Given the description of an element on the screen output the (x, y) to click on. 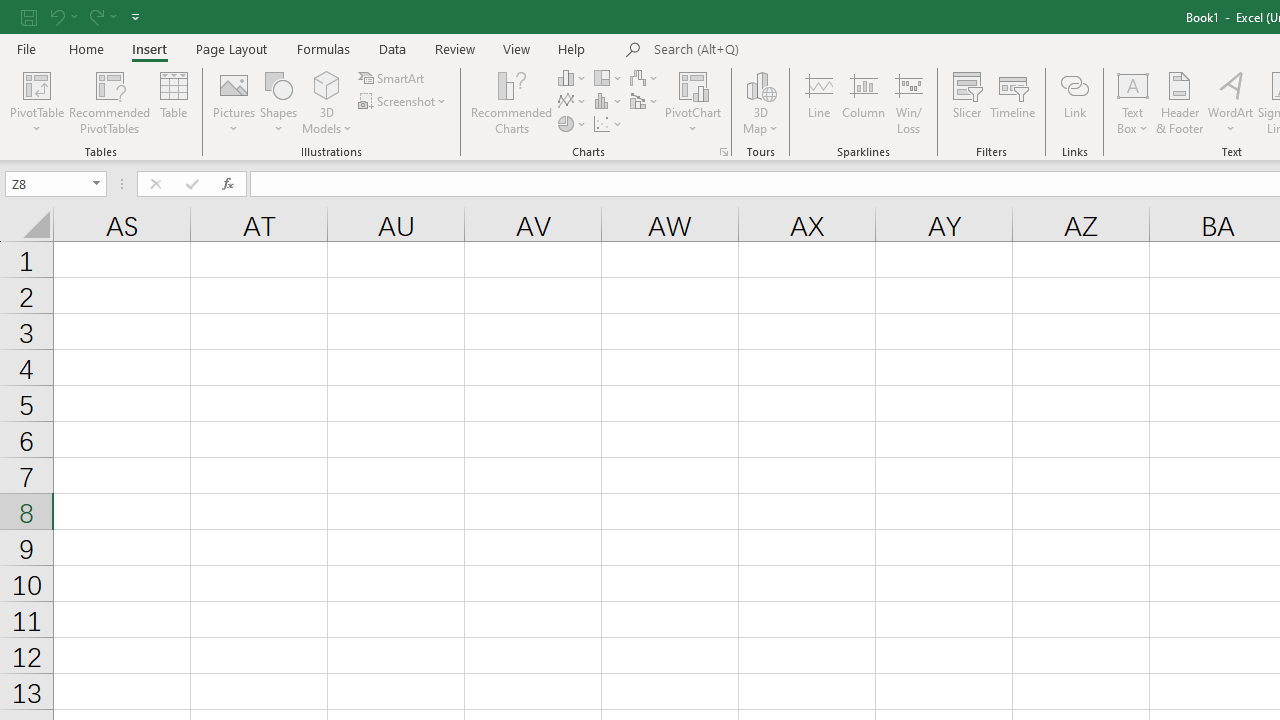
Insert Line or Area Chart (573, 101)
WordArt (1230, 102)
Insert Statistic Chart (609, 101)
Pictures (234, 102)
Slicer... (966, 102)
Recommended PivotTables (109, 102)
Insert (149, 48)
3D Map (760, 102)
Insert Column or Bar Chart (573, 78)
